Given the description of an element on the screen output the (x, y) to click on. 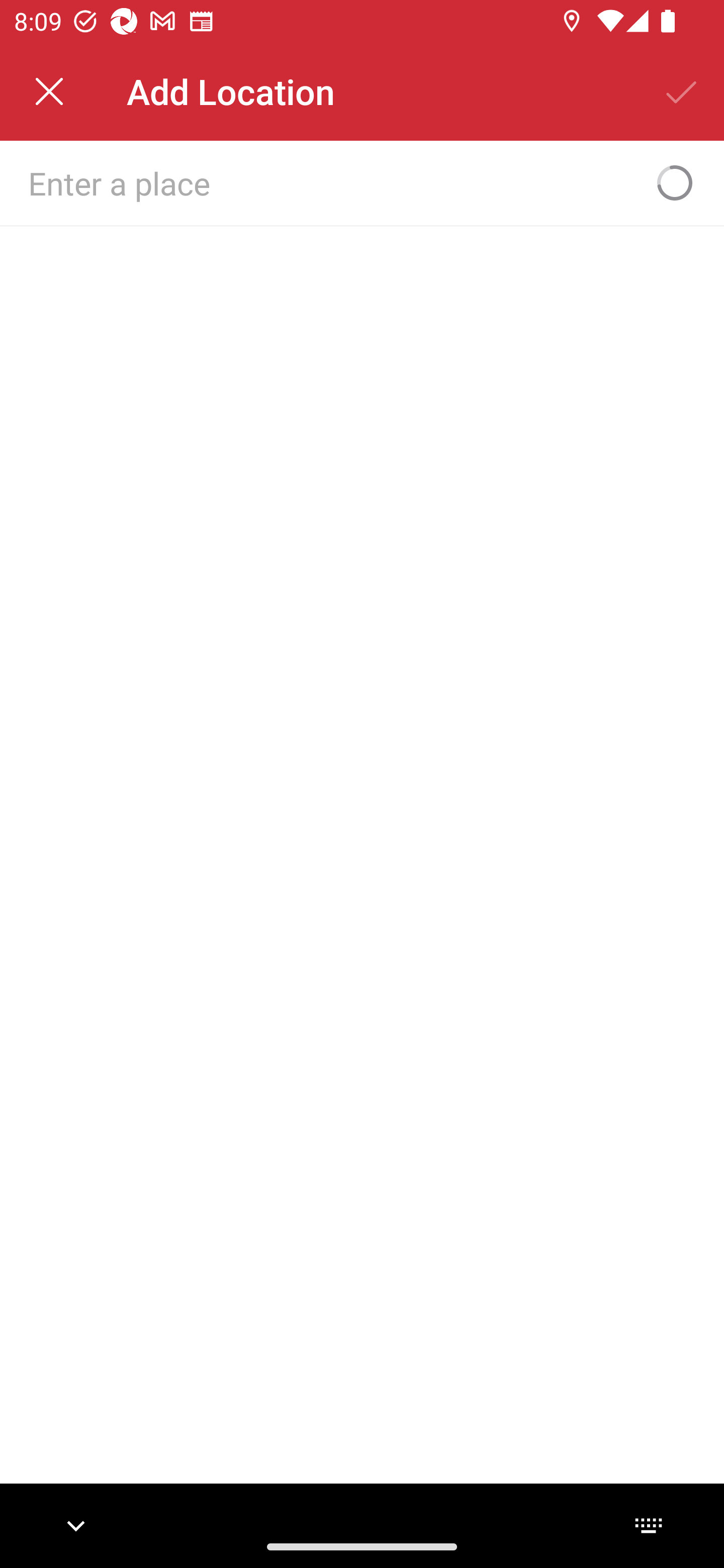
Close (49, 91)
Done (681, 91)
Enter a place (330, 182)
